Given the description of an element on the screen output the (x, y) to click on. 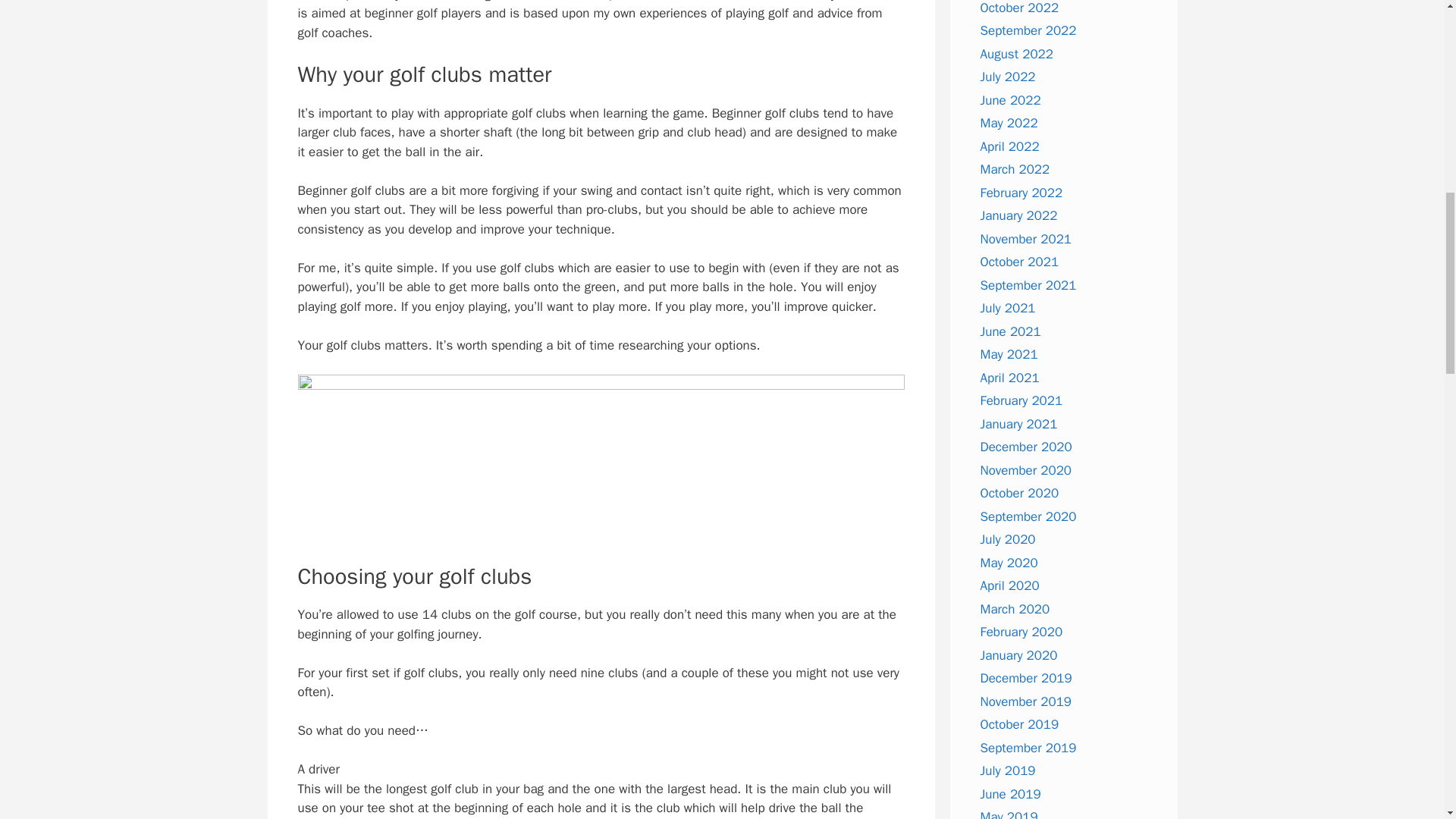
Scroll back to top (1406, 720)
specific recommendations (675, 1)
